Given the description of an element on the screen output the (x, y) to click on. 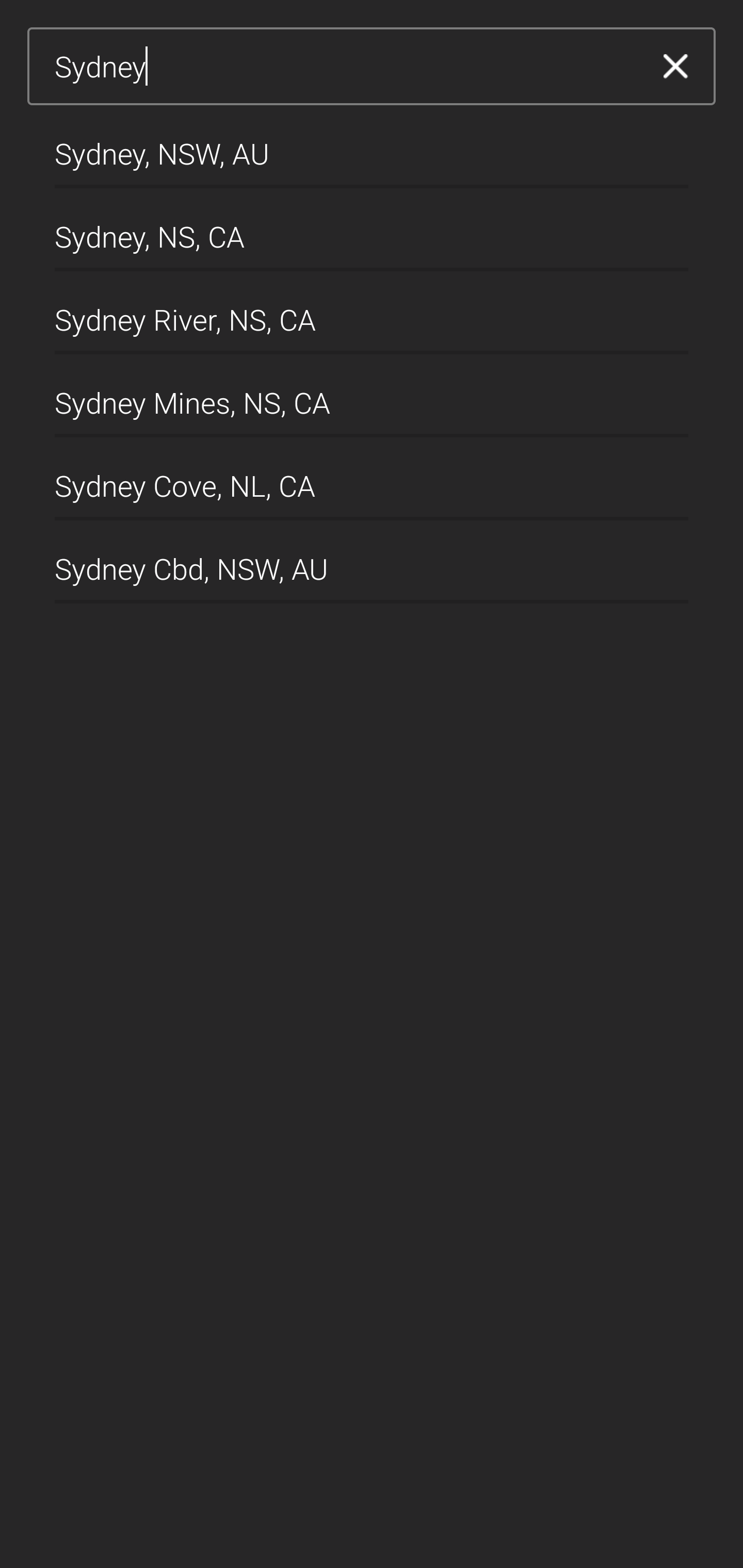
Sydney (345, 66)
Sydney, NSW, AU (371, 146)
Sydney, NS, CA (371, 229)
Sydney River, NS, CA (371, 312)
Sydney Mines, NS, CA (371, 395)
Sydney Cove, NL, CA (371, 478)
Sydney Cbd, NSW, AU (371, 561)
